Given the description of an element on the screen output the (x, y) to click on. 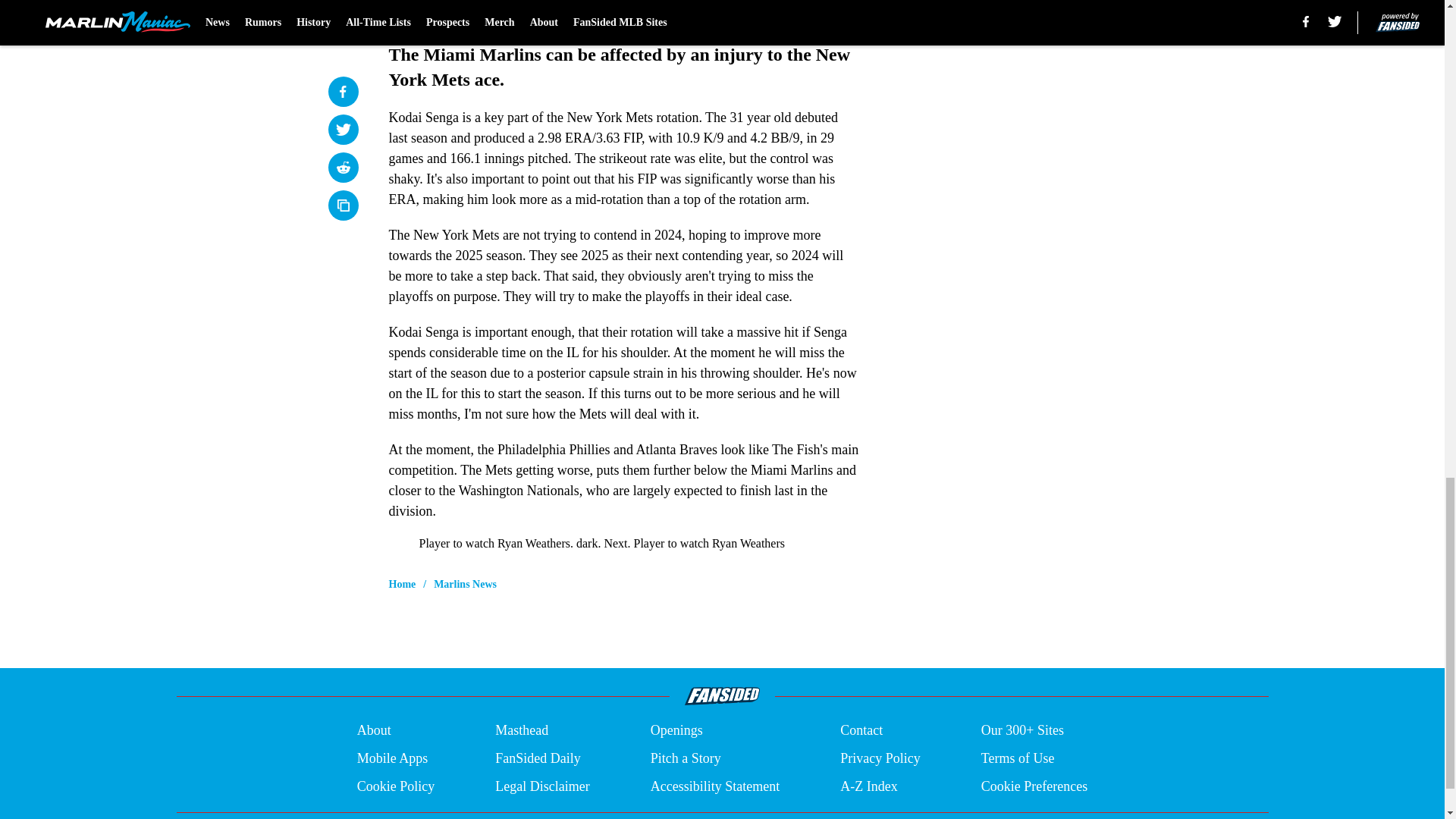
Cookie Policy (395, 786)
Privacy Policy (880, 758)
Accessibility Statement (714, 786)
FanSided Daily (537, 758)
Marlins News (464, 584)
Legal Disclaimer (542, 786)
Pitch a Story (685, 758)
Terms of Use (1017, 758)
Openings (676, 730)
A-Z Index (868, 786)
Home (401, 584)
About (373, 730)
Cookie Preferences (1034, 786)
Mobile Apps (392, 758)
Contact (861, 730)
